Given the description of an element on the screen output the (x, y) to click on. 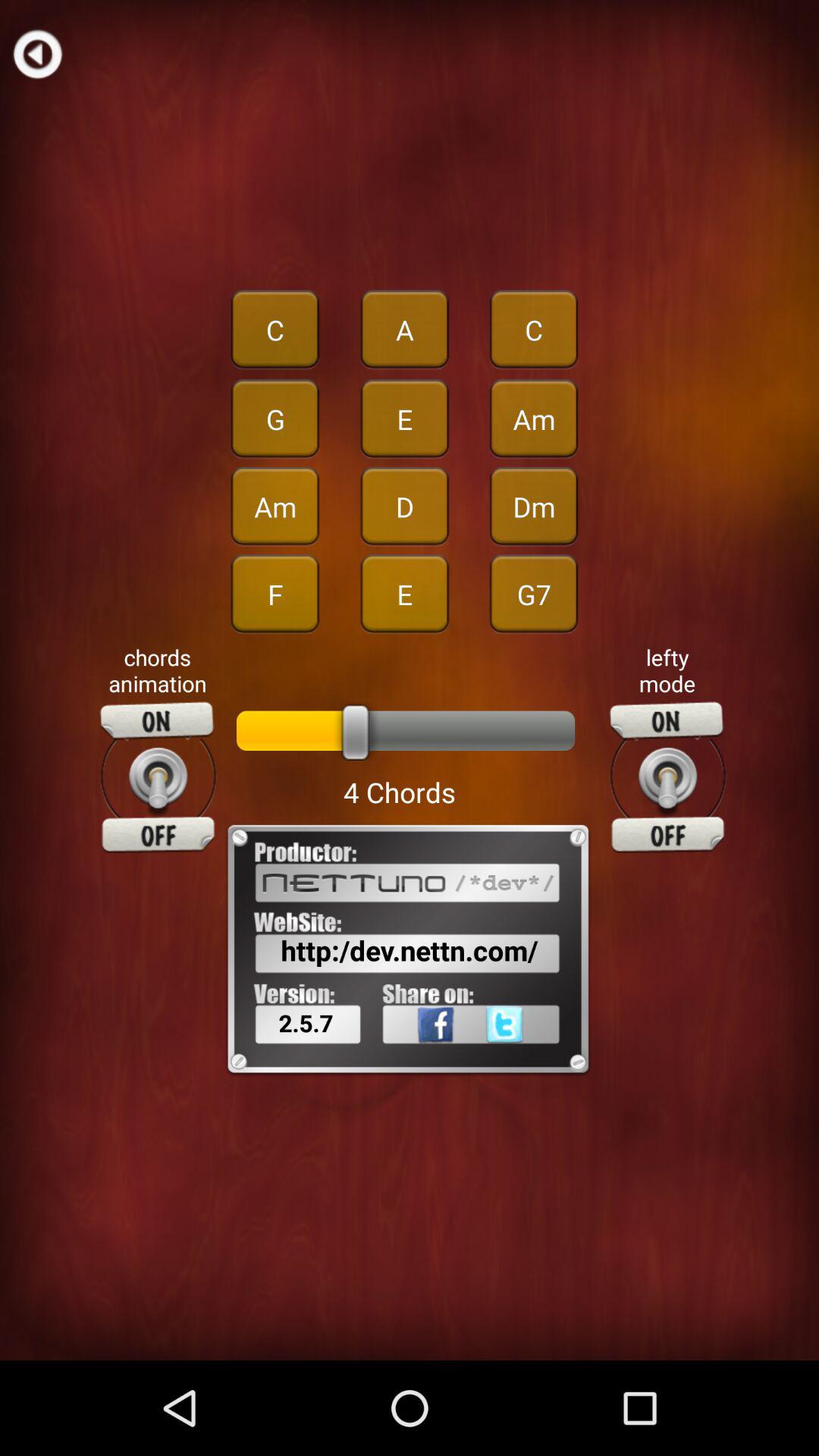
turn mode lefty (667, 777)
